Given the description of an element on the screen output the (x, y) to click on. 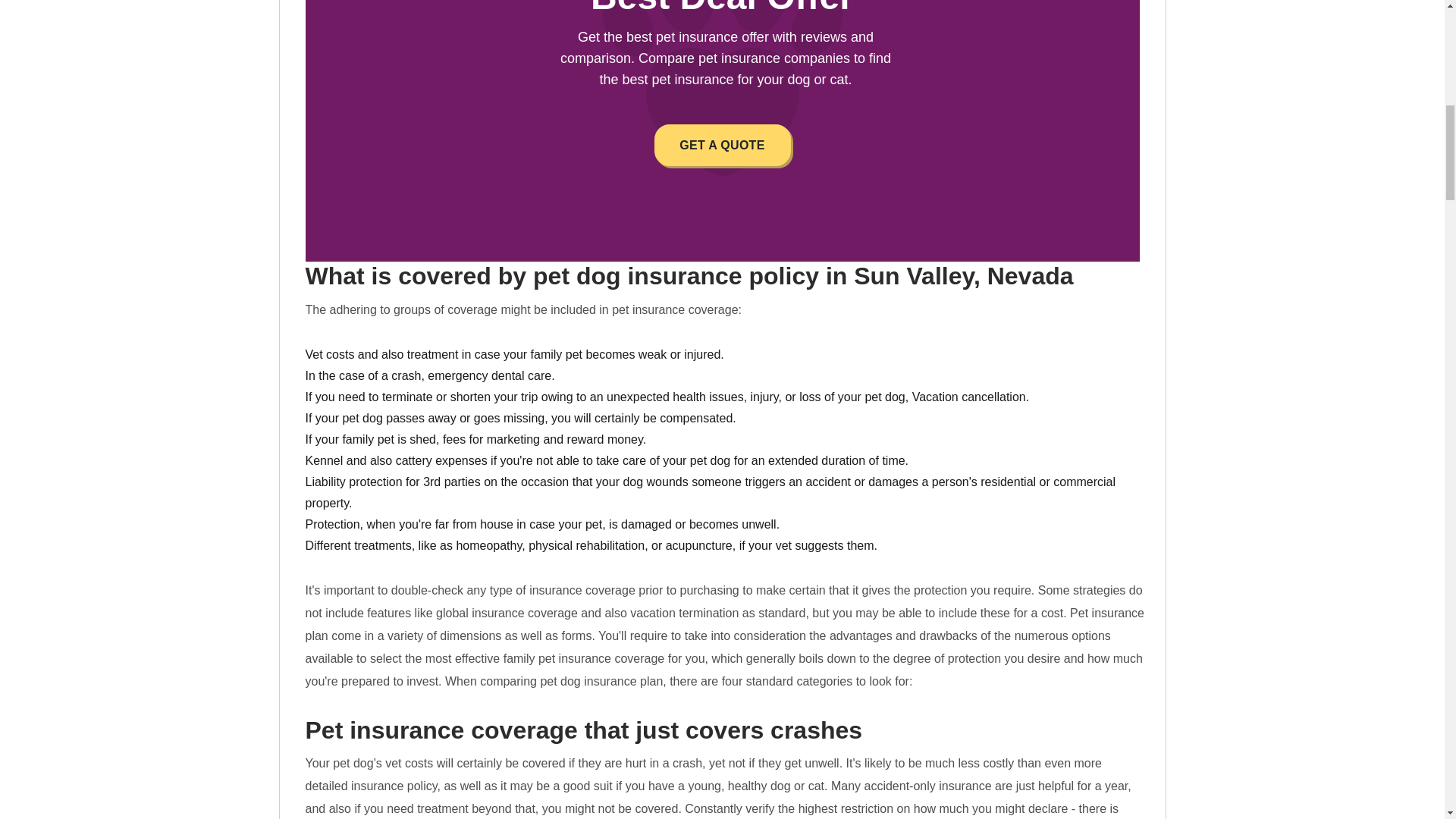
GET A QUOTE (721, 145)
